Given the description of an element on the screen output the (x, y) to click on. 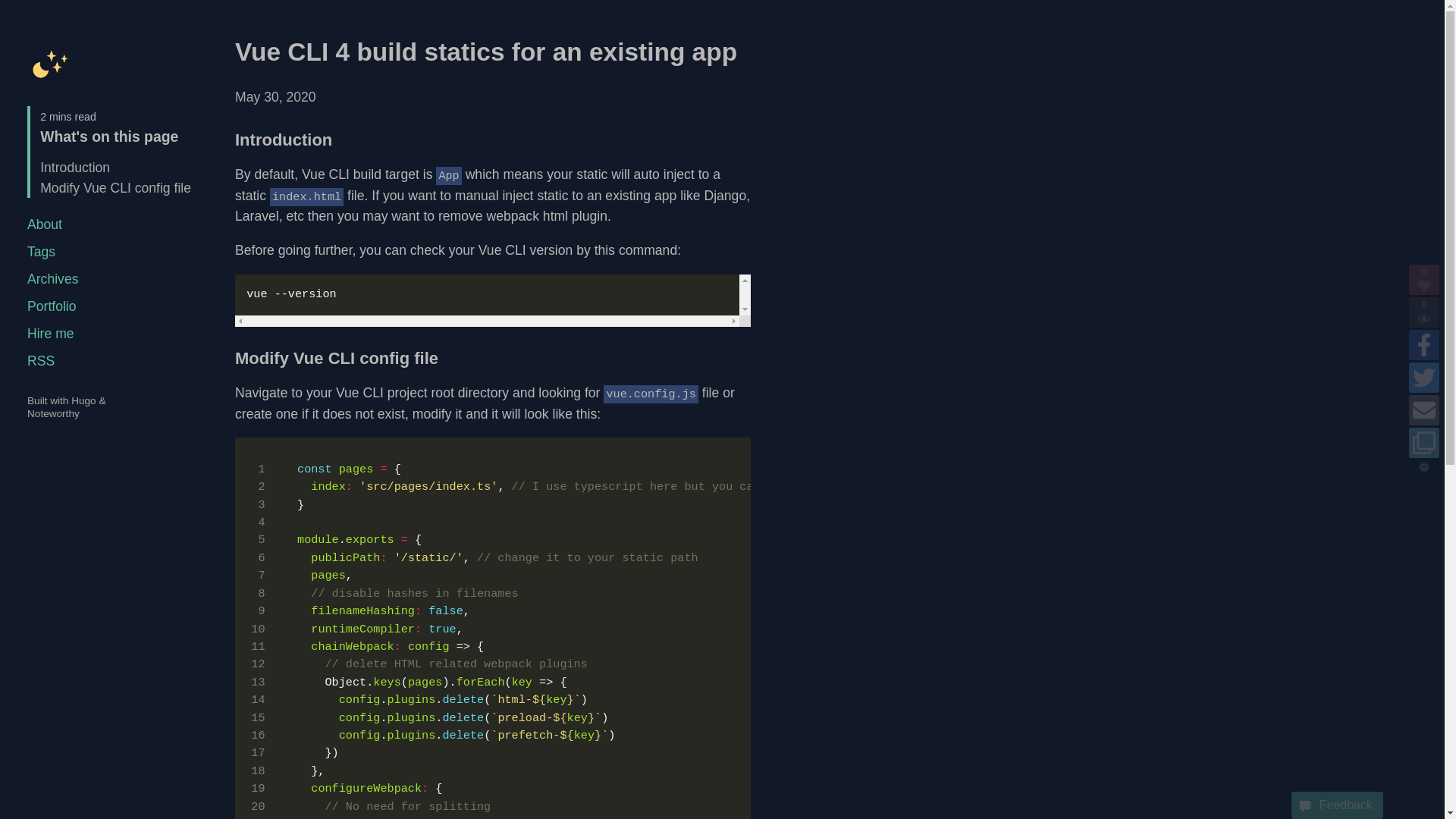
Portfolio (52, 306)
Modify Vue CLI config file (115, 187)
Hugo (83, 400)
Cozi (49, 62)
Introduction (75, 167)
Noteworthy (53, 413)
Archives (52, 279)
Tags (41, 251)
Hire me (50, 333)
powered by owids.com (1423, 467)
